Given the description of an element on the screen output the (x, y) to click on. 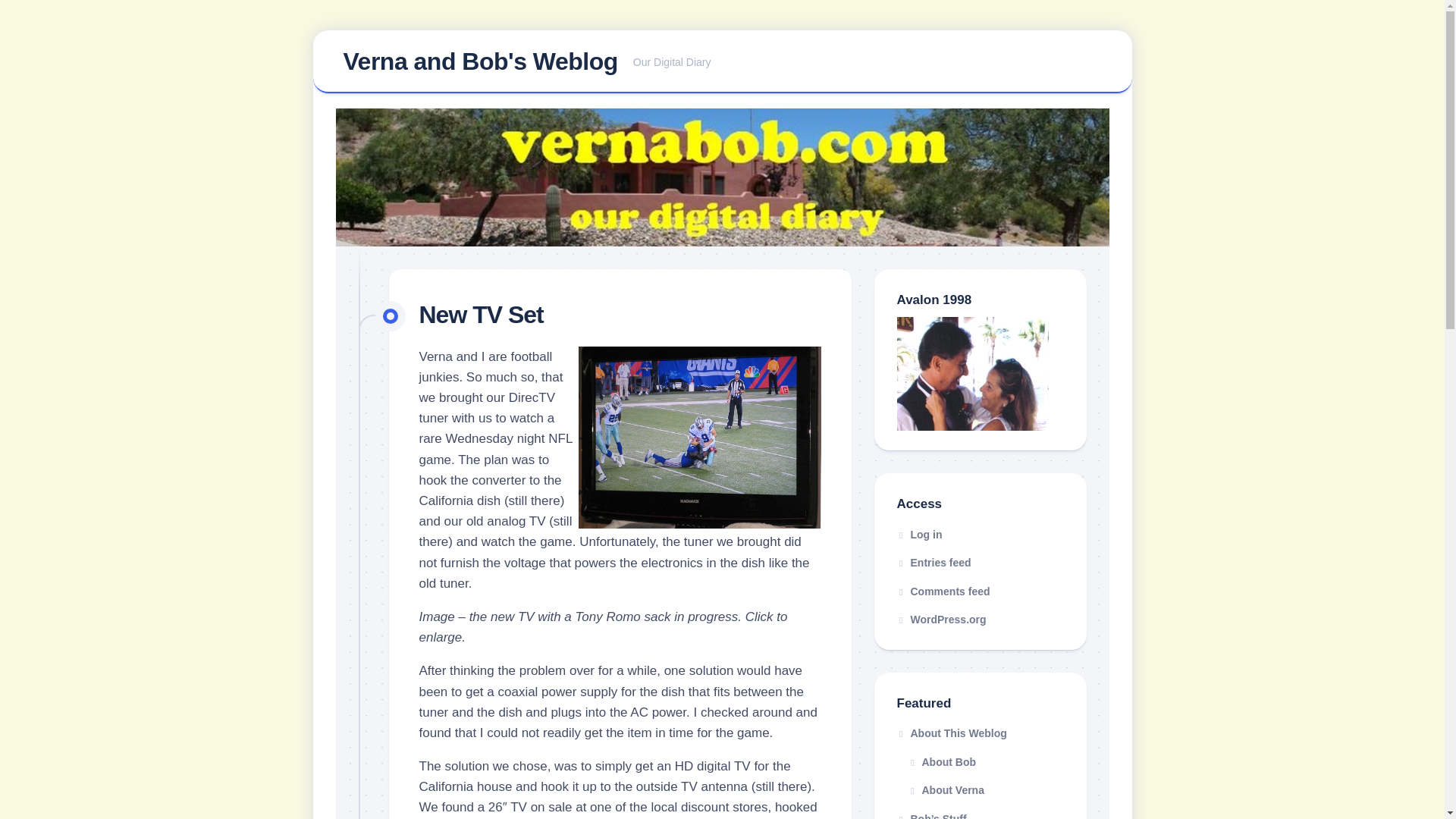
WordPress.org (940, 619)
Log in (722, 62)
About Bob (919, 534)
About This Weblog (979, 762)
Entries feed (979, 733)
Verna and Bob's Weblog (933, 562)
About Verna (479, 61)
Comments feed (979, 790)
